Given the description of an element on the screen output the (x, y) to click on. 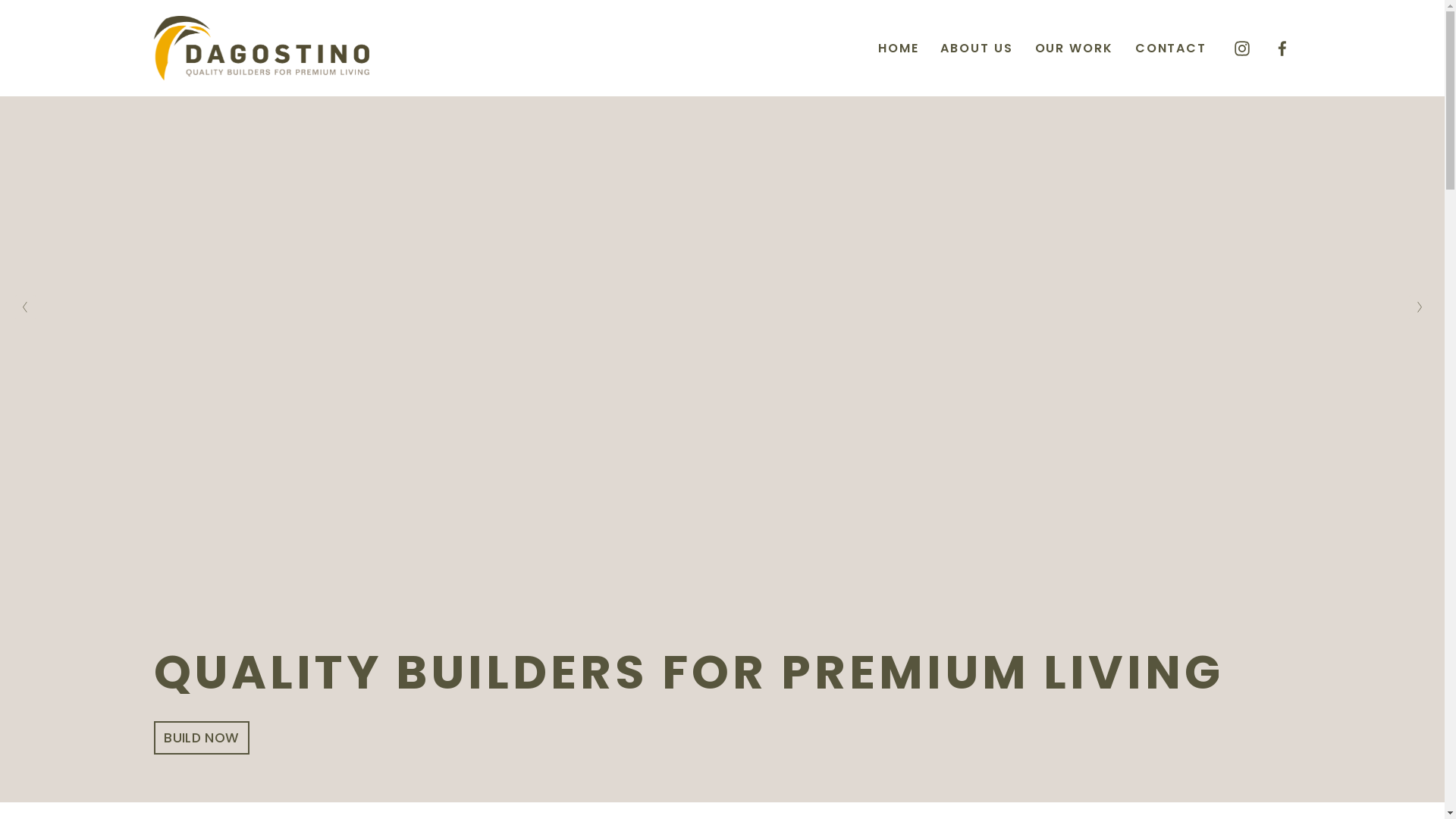
ABOUT US Element type: text (976, 47)
HOME Element type: text (898, 47)
CONTACT Element type: text (1170, 47)
OUR WORK Element type: text (1074, 47)
BUILD NOW Element type: text (201, 737)
